Given the description of an element on the screen output the (x, y) to click on. 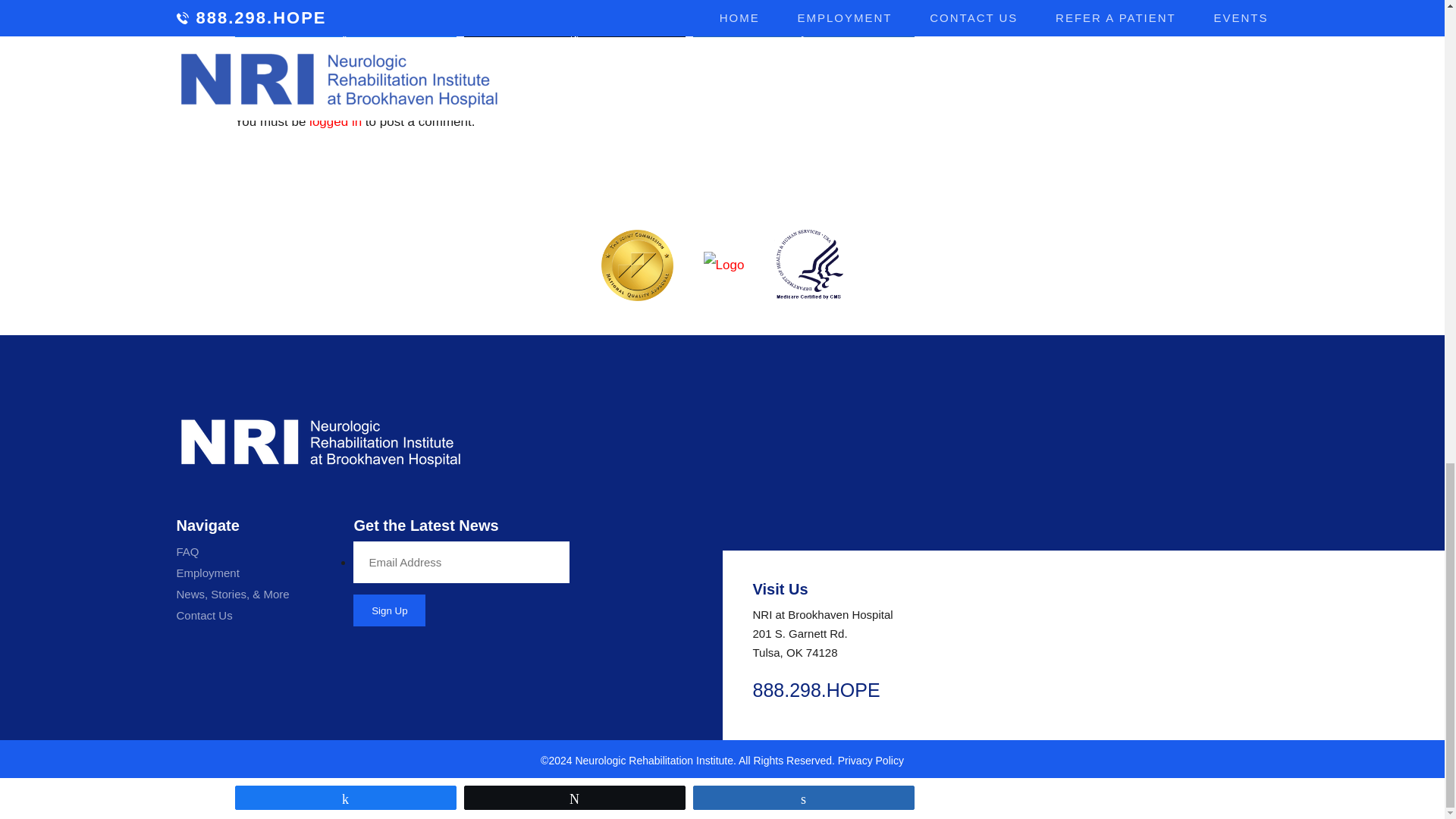
Sign Up (389, 610)
